Given the description of an element on the screen output the (x, y) to click on. 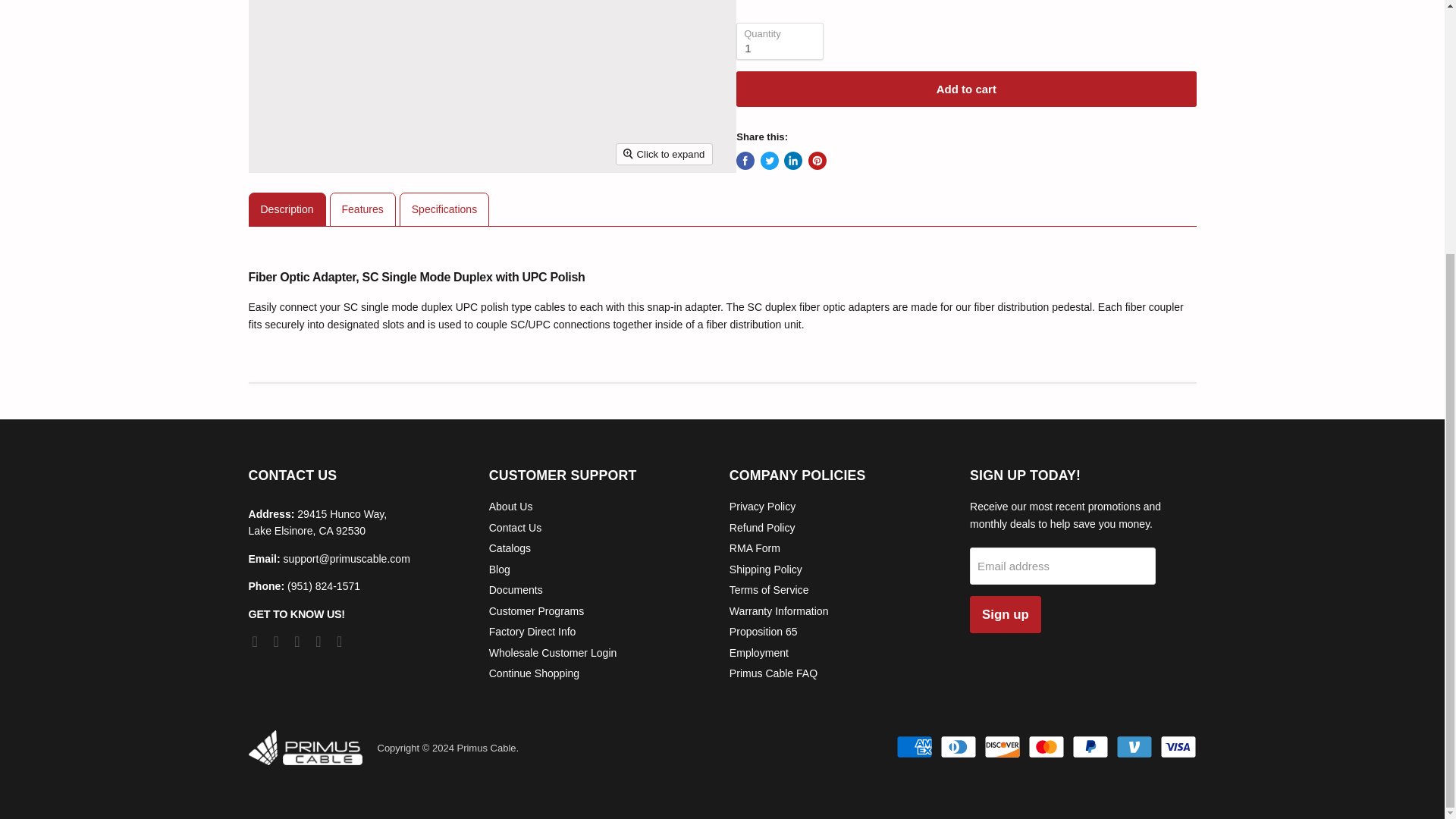
Description (287, 209)
Specifications (443, 209)
Tweet on Twitter (769, 160)
Share on LinkedIn (793, 160)
Blog (500, 569)
About Us (510, 506)
Catalogs (510, 548)
Pin on Pinterest (817, 160)
American Express (914, 746)
Click to expand (664, 154)
Mastercard (1045, 746)
Documents (516, 589)
Discover (1002, 746)
Venmo (1134, 746)
PayPal (1089, 746)
